Given the description of an element on the screen output the (x, y) to click on. 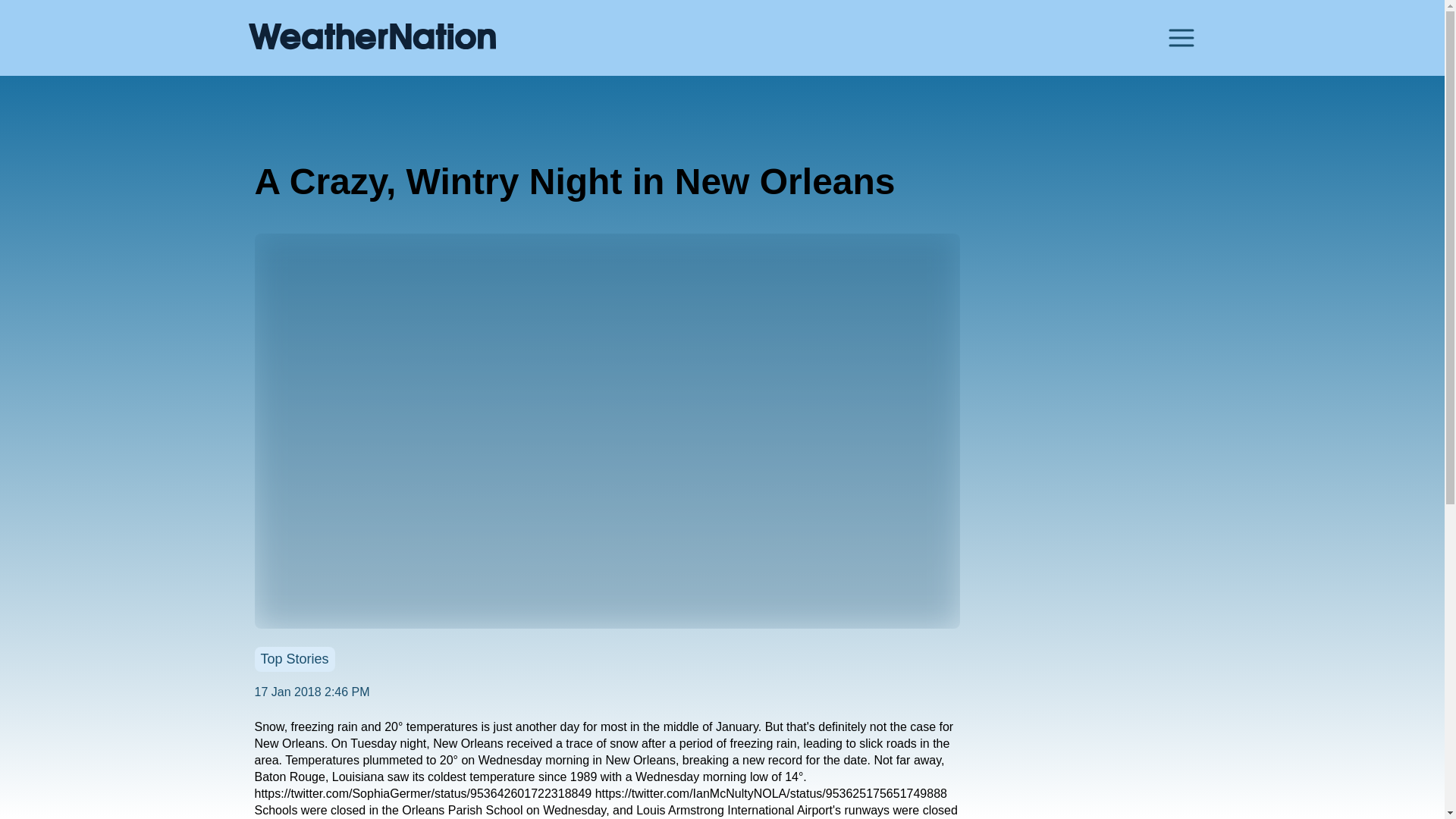
runways were closed (901, 809)
